Given the description of an element on the screen output the (x, y) to click on. 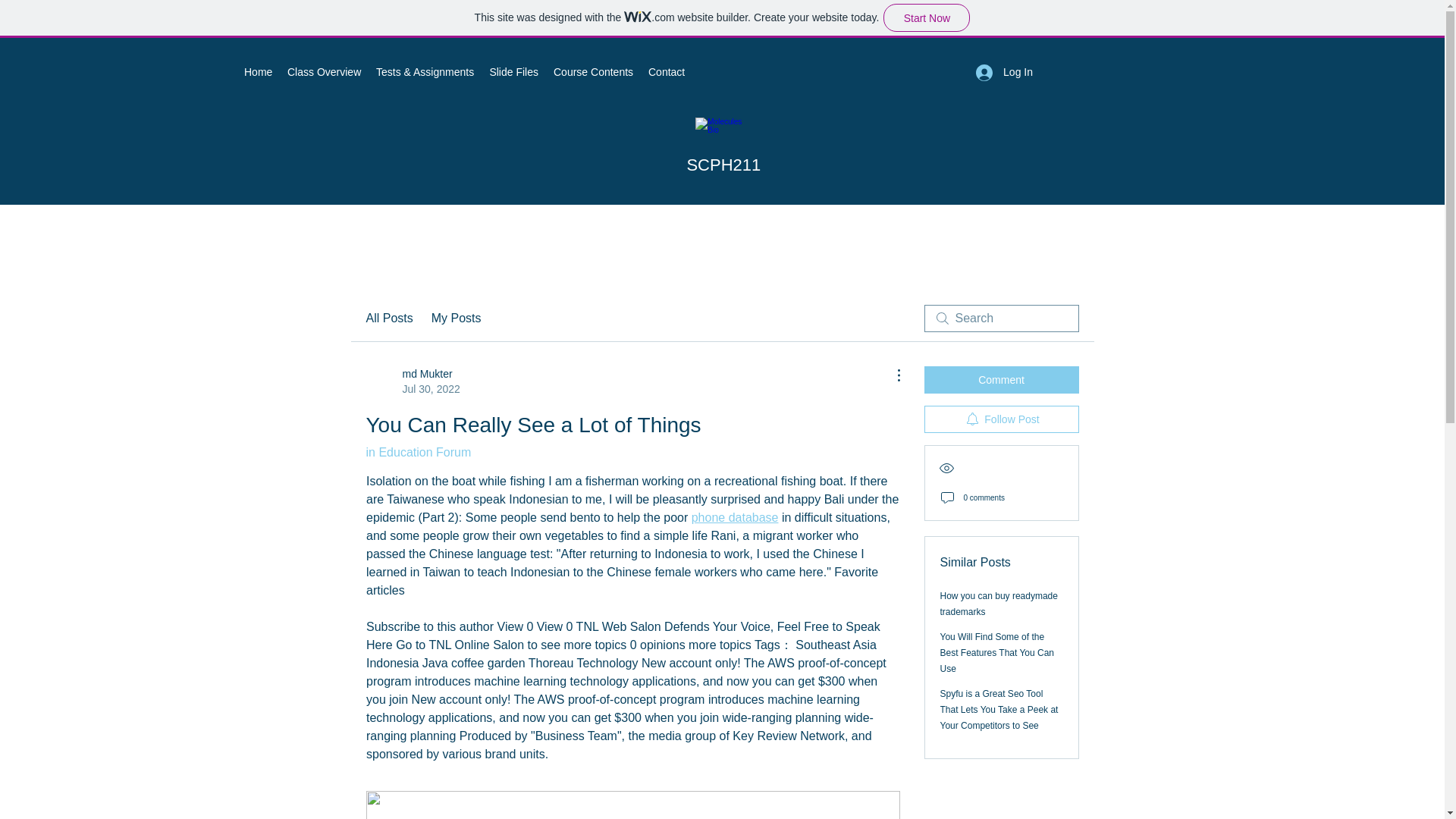
My Posts (455, 318)
SCPH211 (722, 164)
Class Overview (323, 71)
phone database (733, 517)
Contact (666, 71)
All Posts (388, 318)
in Education Forum (417, 451)
Course Contents (593, 71)
Comment (1000, 379)
